Given the description of an element on the screen output the (x, y) to click on. 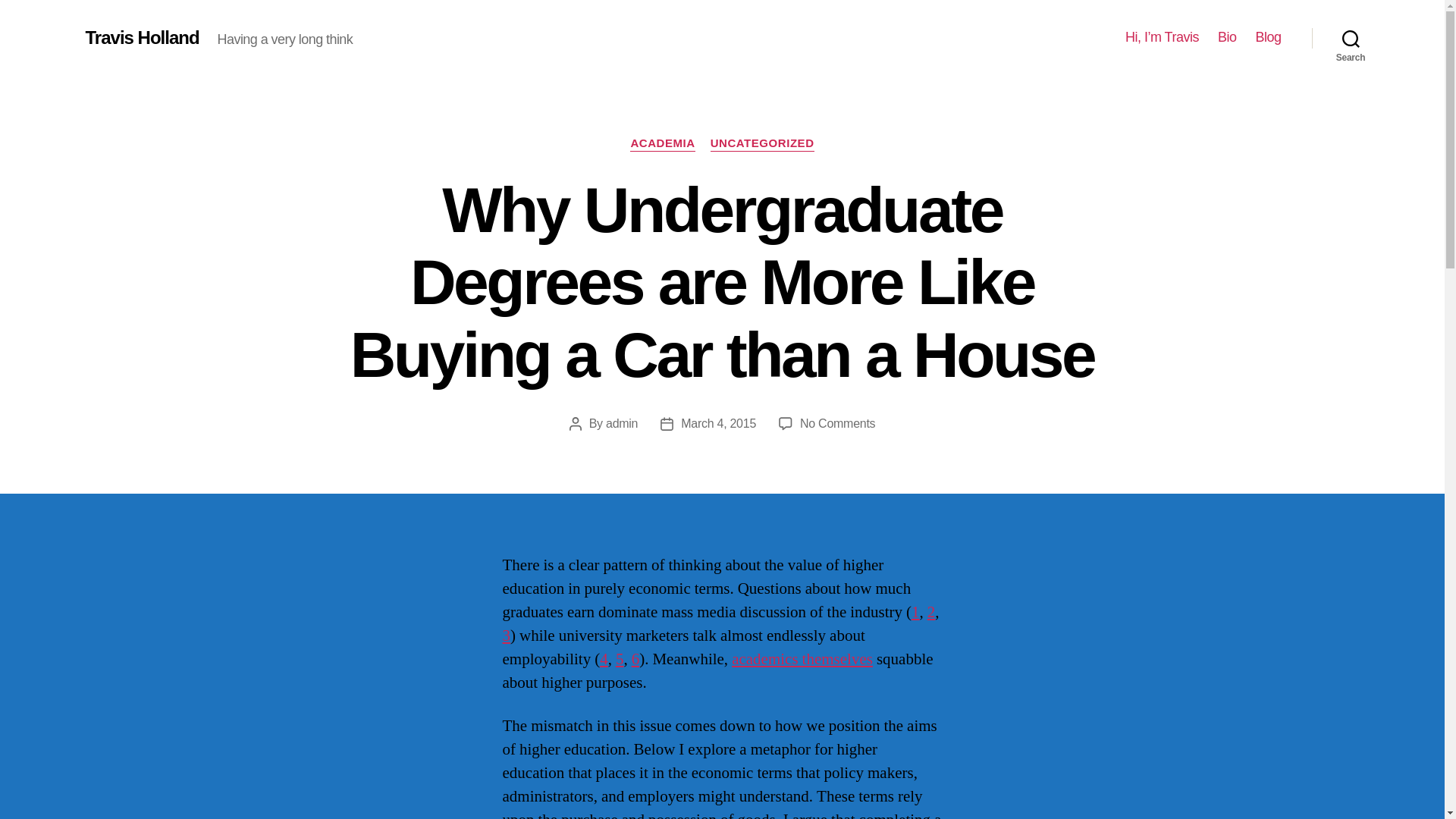
admin (621, 422)
Search (1350, 37)
Blog (1268, 37)
March 4, 2015 (718, 422)
Travis Holland (141, 37)
Bio (1226, 37)
academics themselves (802, 659)
UNCATEGORIZED (761, 143)
ACADEMIA (662, 143)
